Given the description of an element on the screen output the (x, y) to click on. 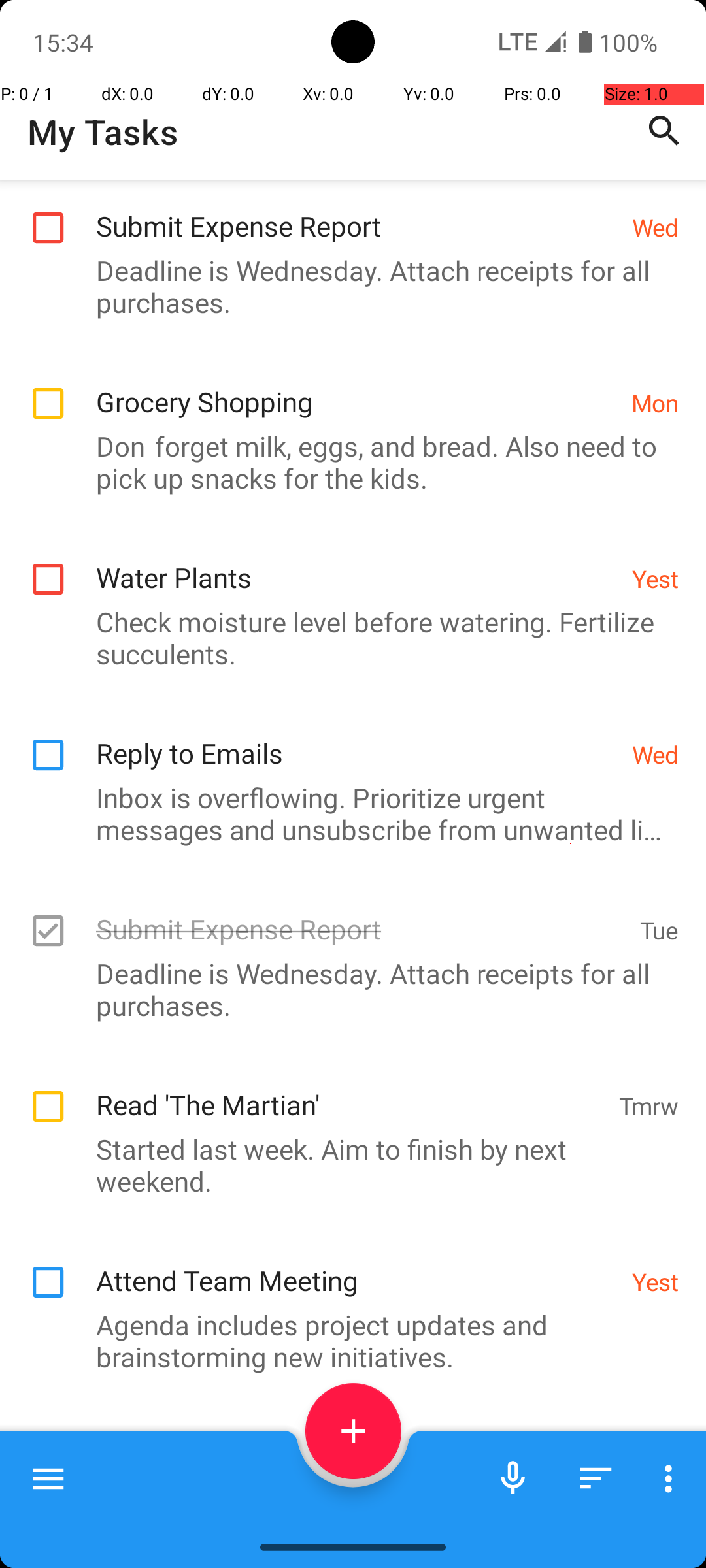
Deadline is Wednesday. Attach receipts for all purchases. Element type: android.widget.TextView (346, 285)
Don	 forget milk, eggs, and bread. Also need to pick up snacks for the kids. Element type: android.widget.TextView (346, 461)
Inbox is overflowing. Prioritize urgent messages and unsubscribe from unwanted lists. Element type: android.widget.TextView (346, 813)
